Given the description of an element on the screen output the (x, y) to click on. 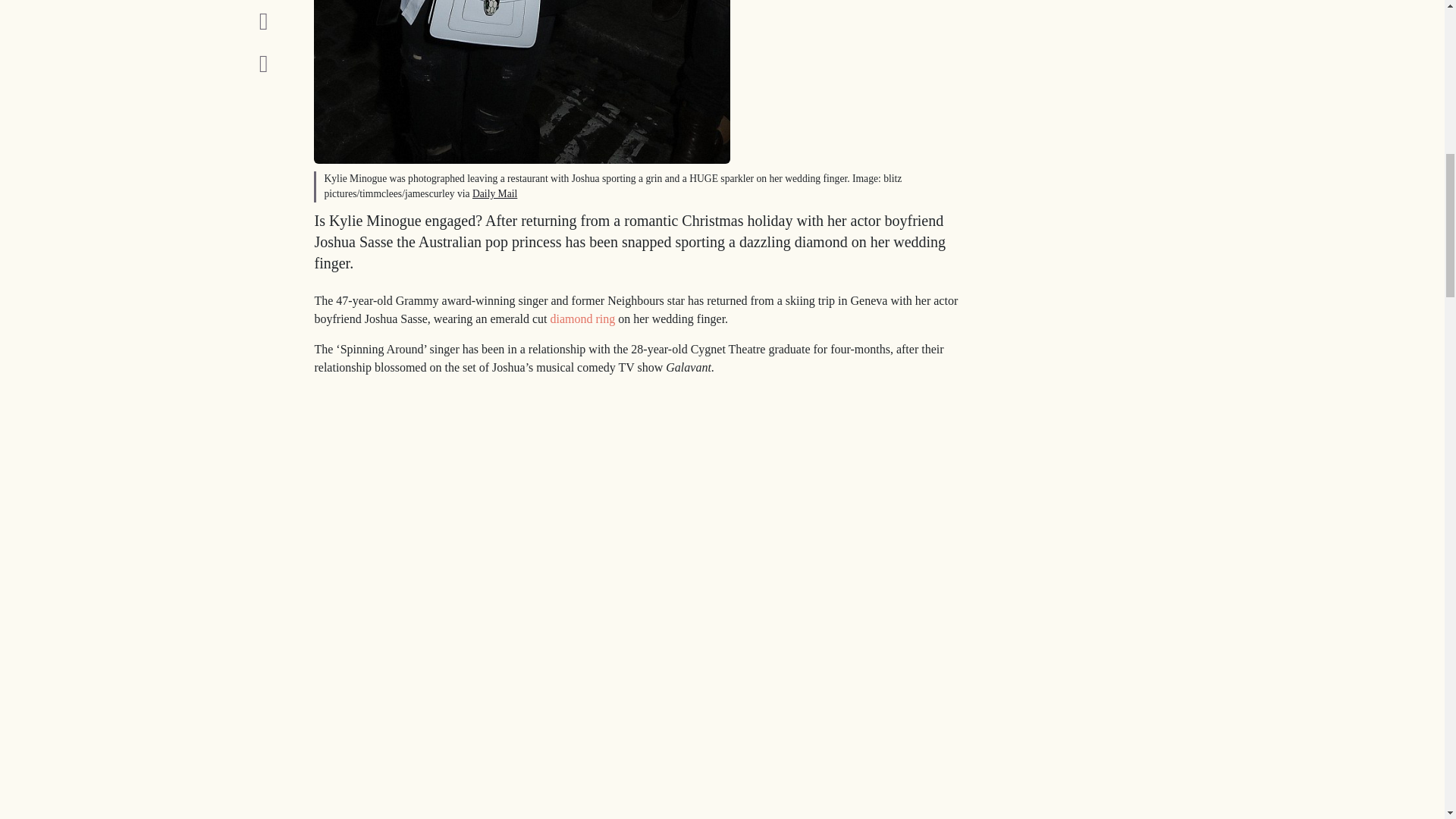
diamond ring (582, 318)
Daily Mail (493, 193)
Holiday bling or engagement ring: is Kylie getting married? (522, 81)
